Given the description of an element on the screen output the (x, y) to click on. 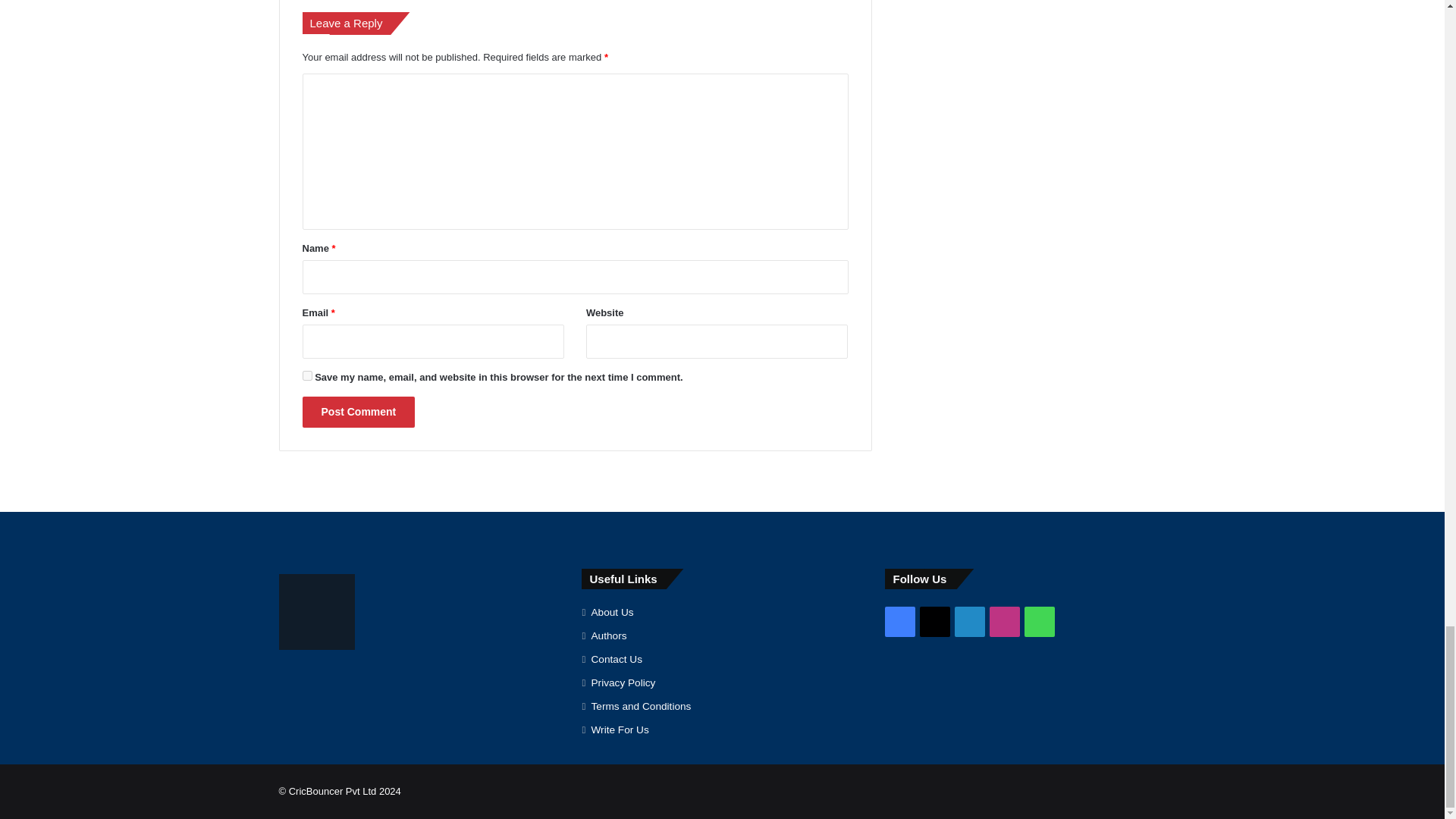
Post Comment (357, 411)
Post Comment (357, 411)
yes (306, 375)
